Given the description of an element on the screen output the (x, y) to click on. 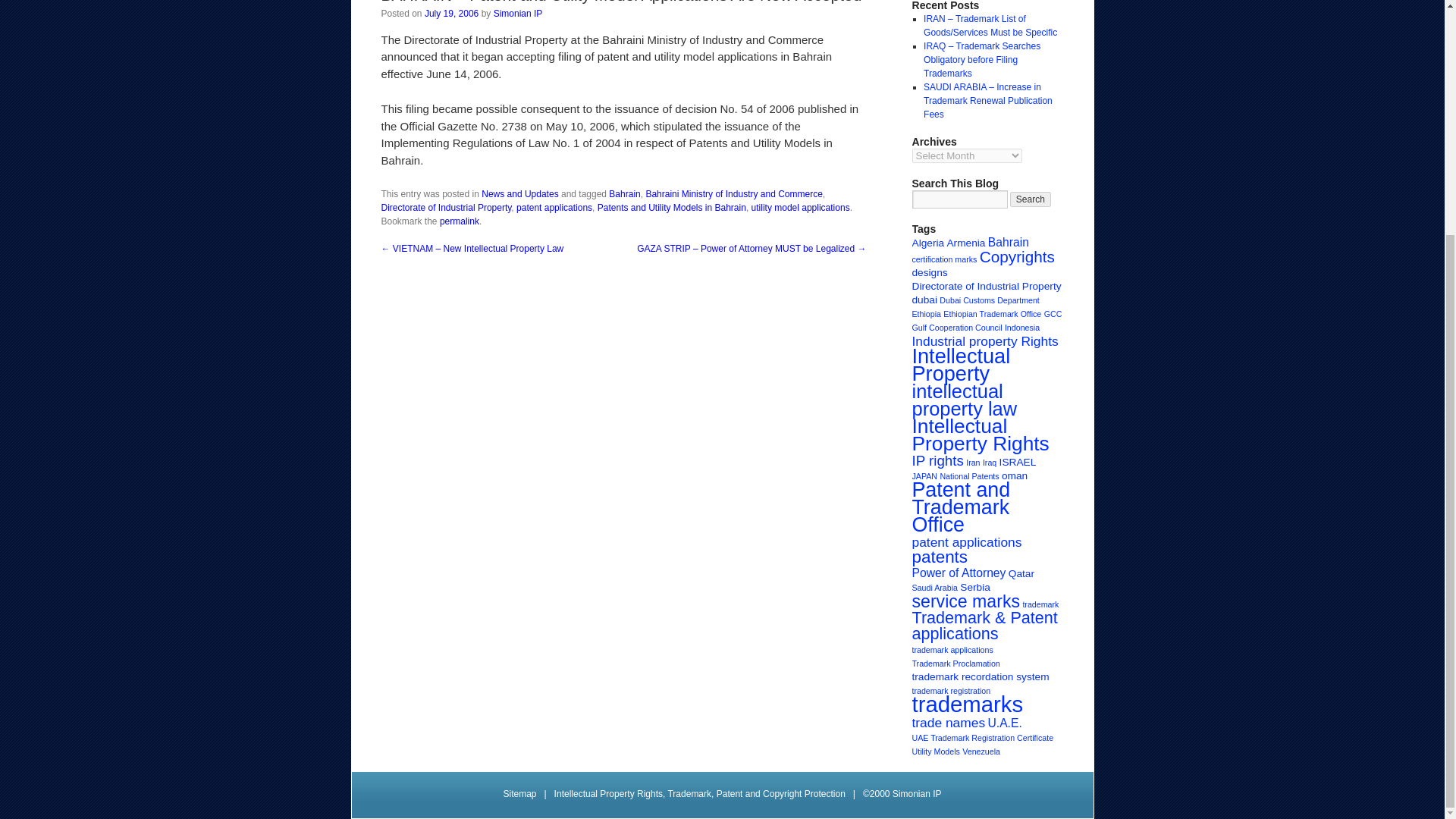
Bahrain (624, 194)
Search (1030, 199)
Directorate of Industrial Property (986, 285)
patent applications (554, 207)
permalink (459, 221)
Armenia (965, 242)
Bahraini Ministry of Industry and Commerce (733, 194)
8:44 am (452, 13)
designs (929, 272)
certification marks (943, 258)
